Given the description of an element on the screen output the (x, y) to click on. 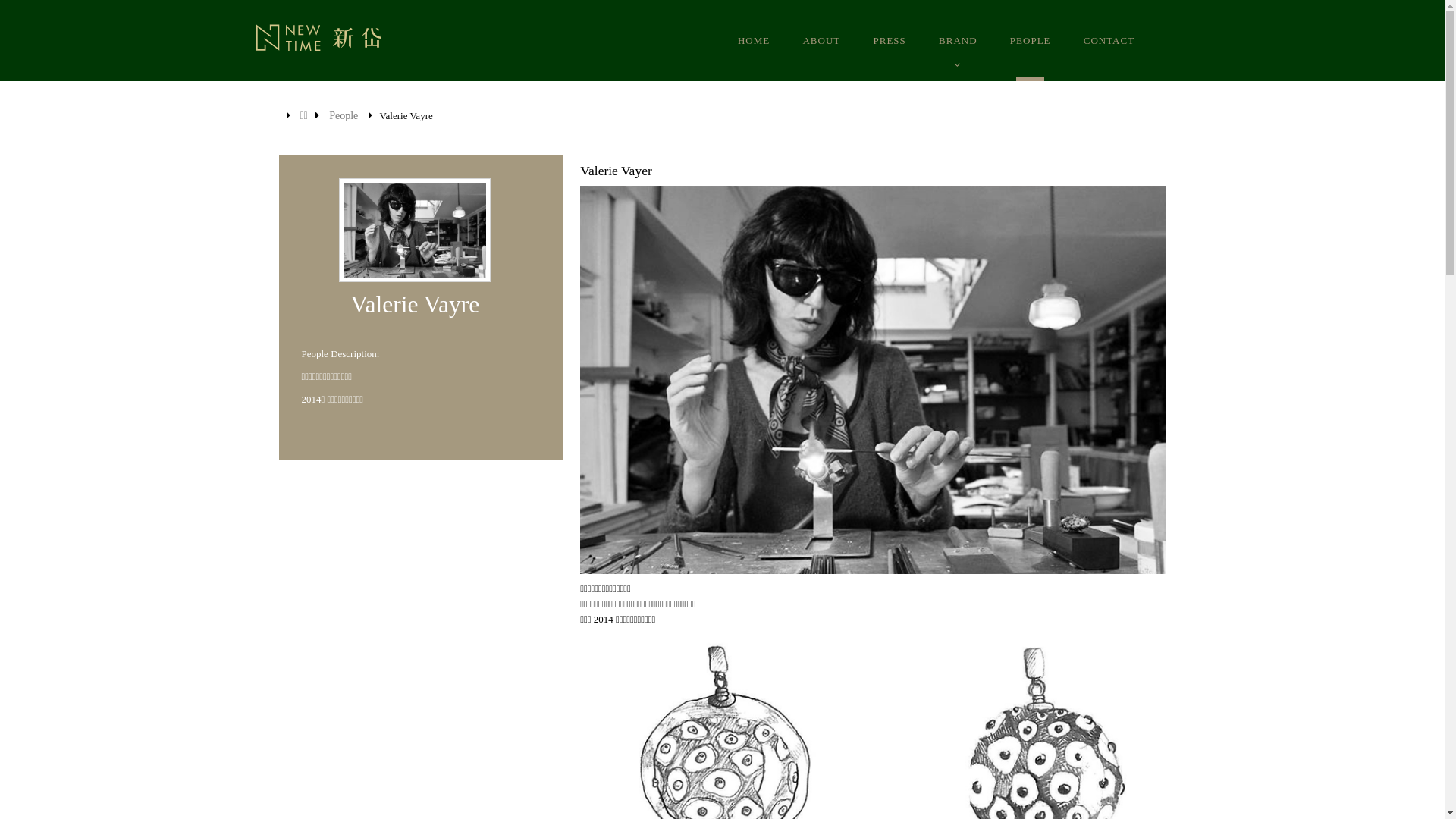
PEOPLE Element type: text (1030, 40)
People Element type: text (343, 115)
people_valerie-vayer_pic_1000-663 Element type: hover (872, 379)
CONTACT Element type: text (1108, 40)
BRAND Element type: text (957, 40)
ABOUT Element type: text (821, 40)
HOME Element type: text (753, 40)
PRESS Element type: text (889, 40)
